Given the description of an element on the screen output the (x, y) to click on. 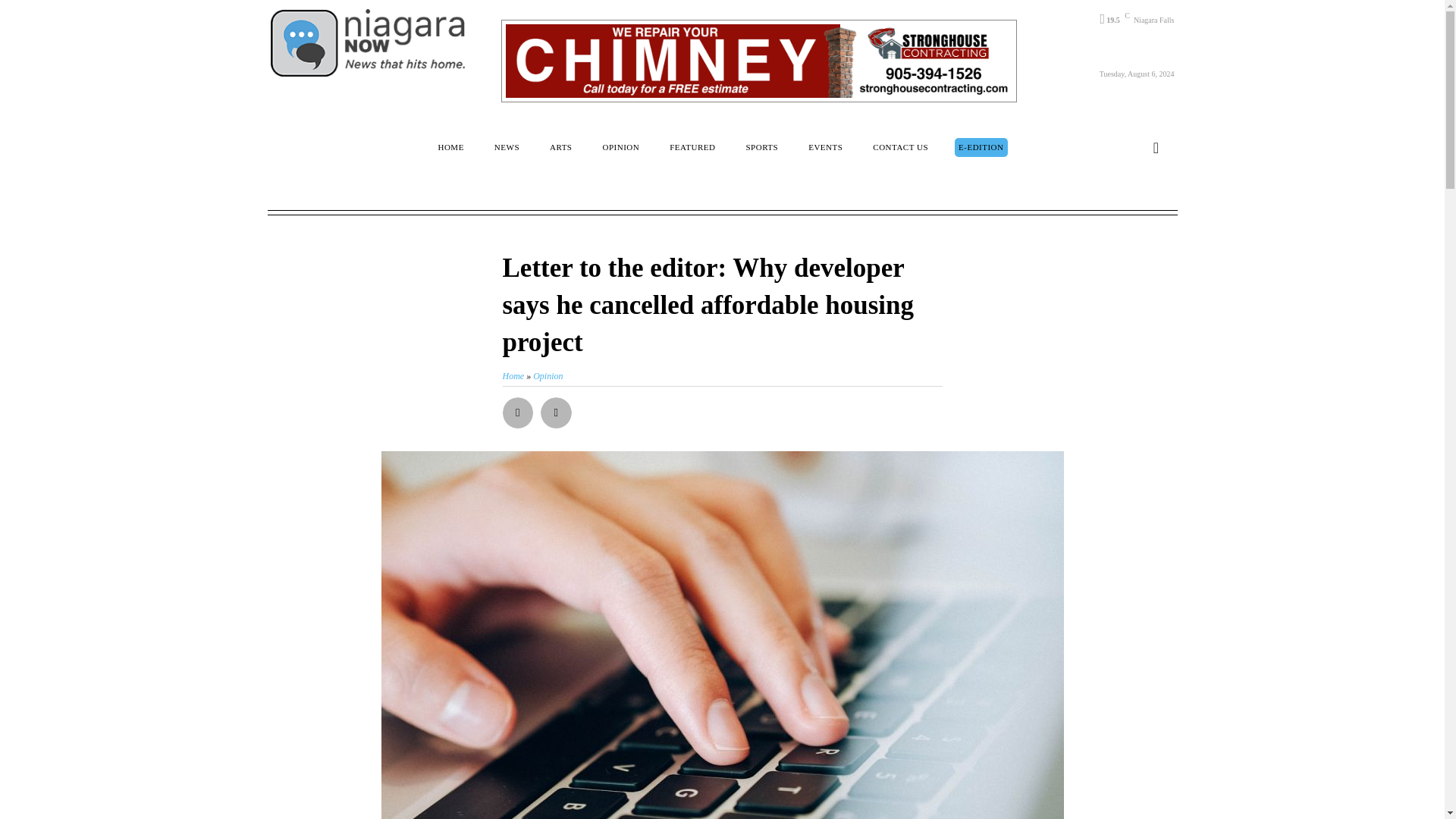
OPINION (620, 147)
FEATURED (692, 147)
ARTS (560, 147)
CONTACT US (900, 147)
E-EDITION (981, 147)
EVENTS (825, 147)
NEWS (506, 147)
SPORTS (761, 147)
HOME (450, 147)
